Given the description of an element on the screen output the (x, y) to click on. 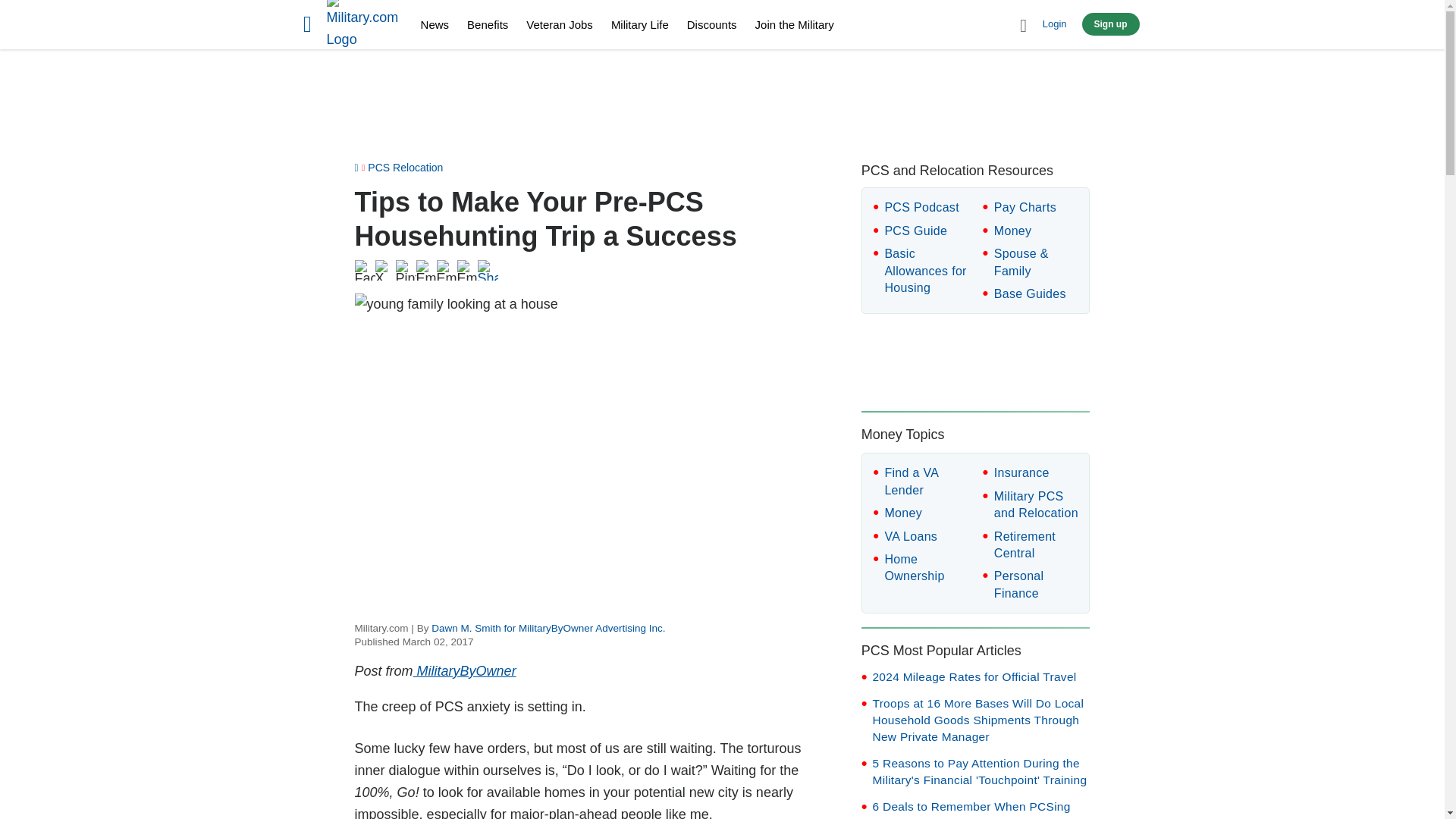
Benefits (487, 24)
Home (364, 27)
Veteran Jobs (558, 24)
Military Life (639, 24)
